Given the description of an element on the screen output the (x, y) to click on. 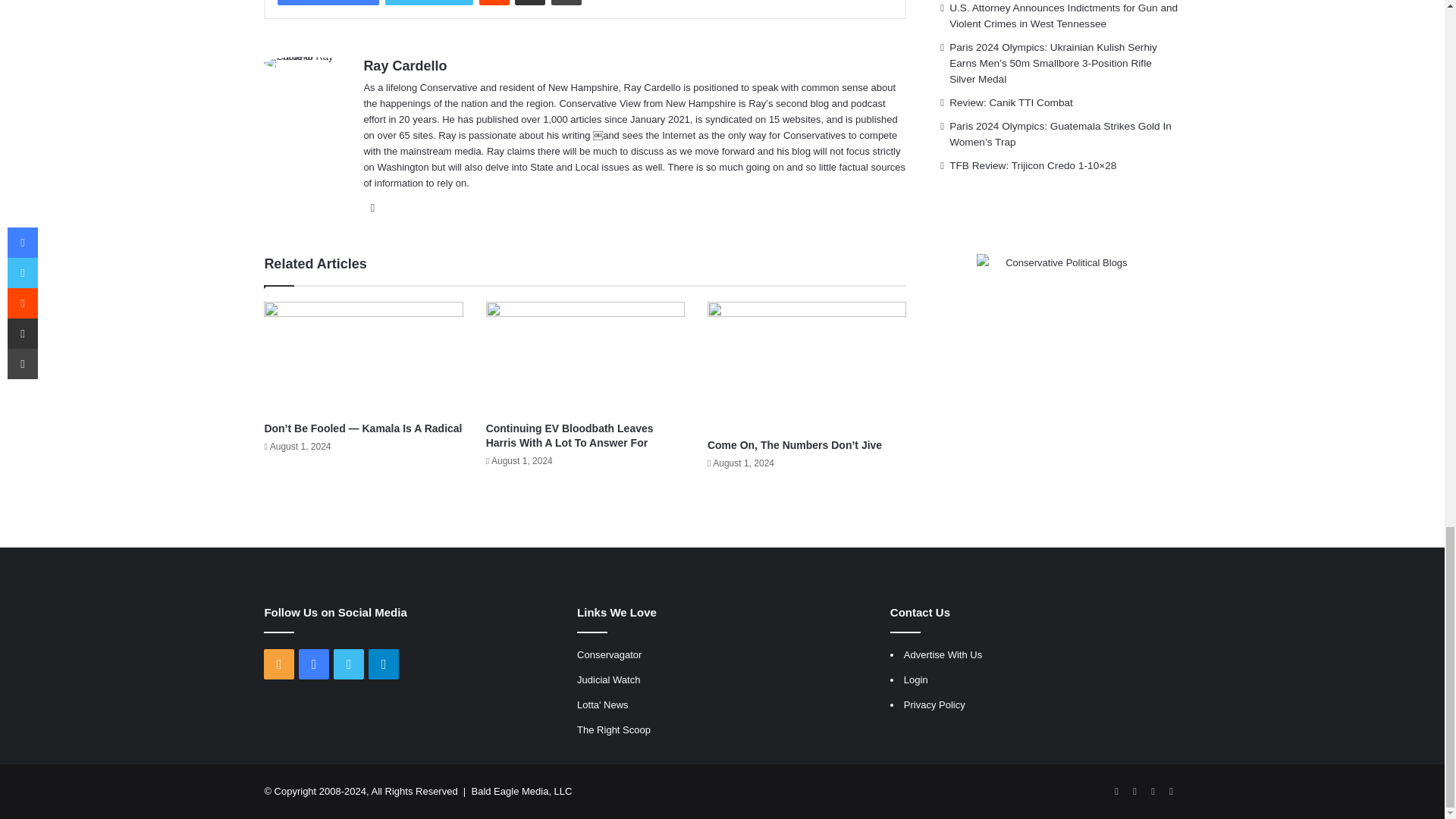
Twitter (429, 2)
Facebook (328, 2)
Reddit (494, 2)
Share via Email (529, 2)
